Given the description of an element on the screen output the (x, y) to click on. 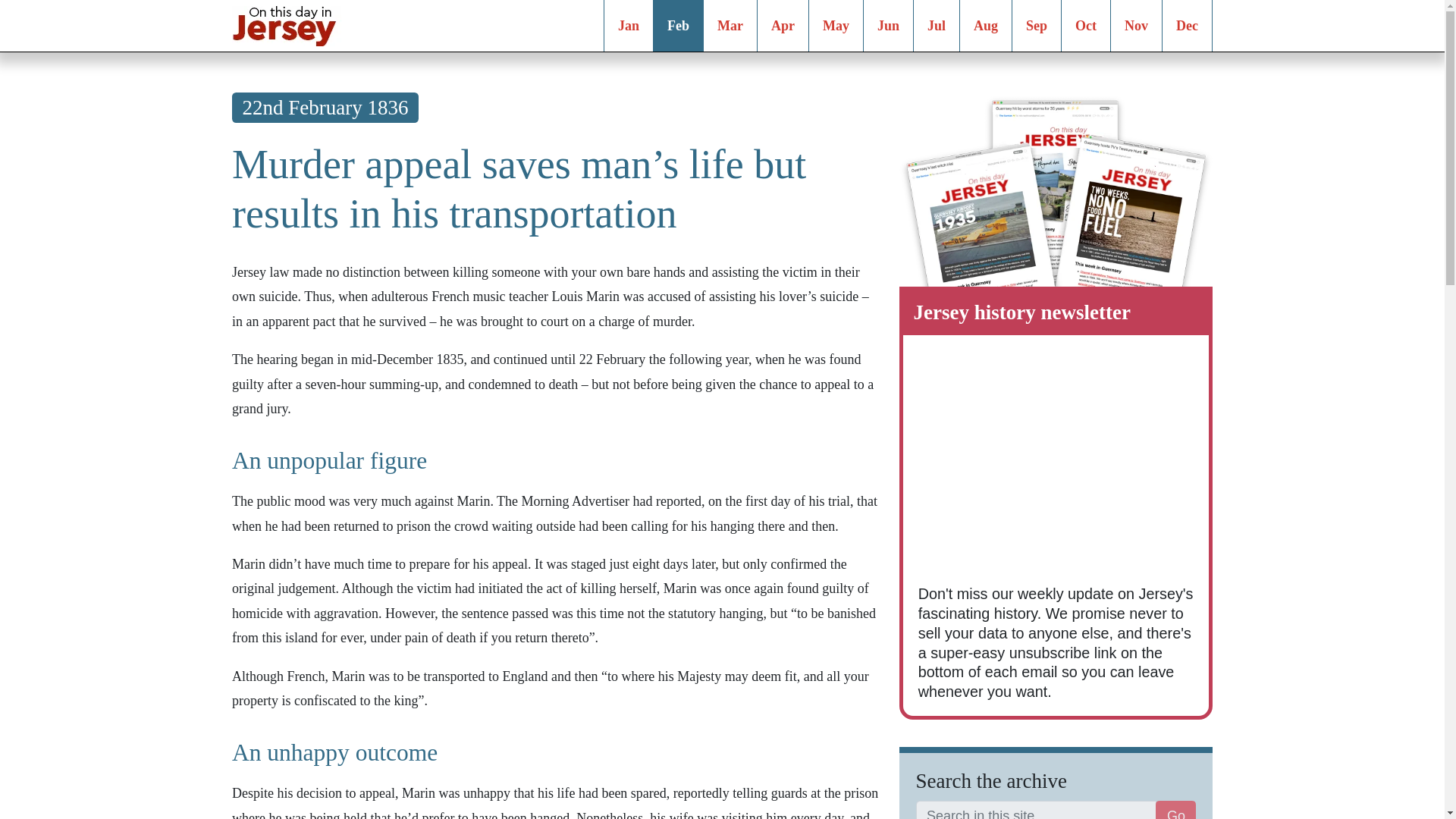
Jan (628, 25)
May (835, 25)
Aug (985, 25)
Nov (1136, 25)
Apr (783, 25)
Go (1175, 809)
Jun (887, 25)
Mar (729, 25)
Sep (1036, 25)
Feb (678, 25)
